Given the description of an element on the screen output the (x, y) to click on. 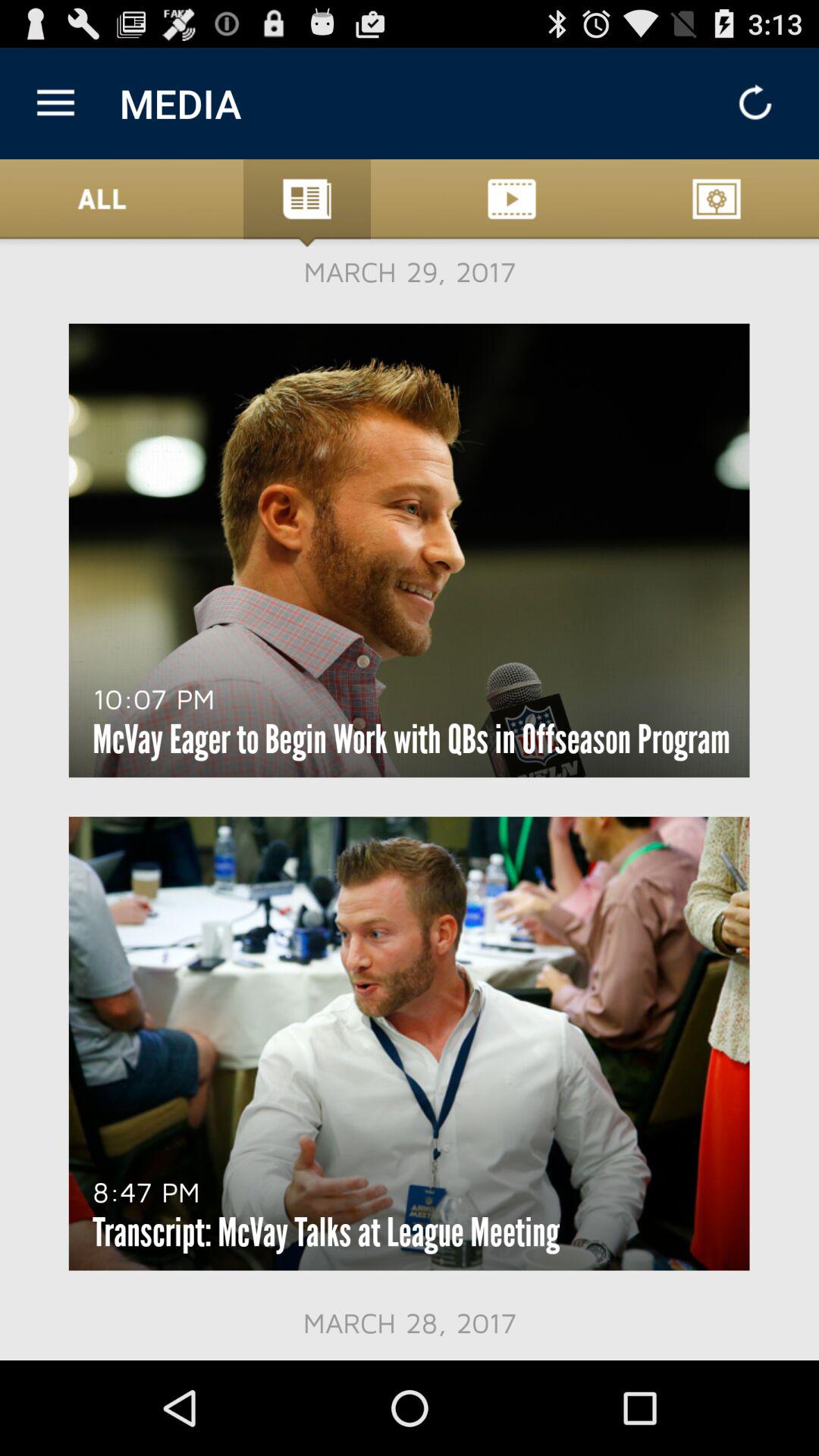
scroll until 10:07 pm icon (153, 698)
